Given the description of an element on the screen output the (x, y) to click on. 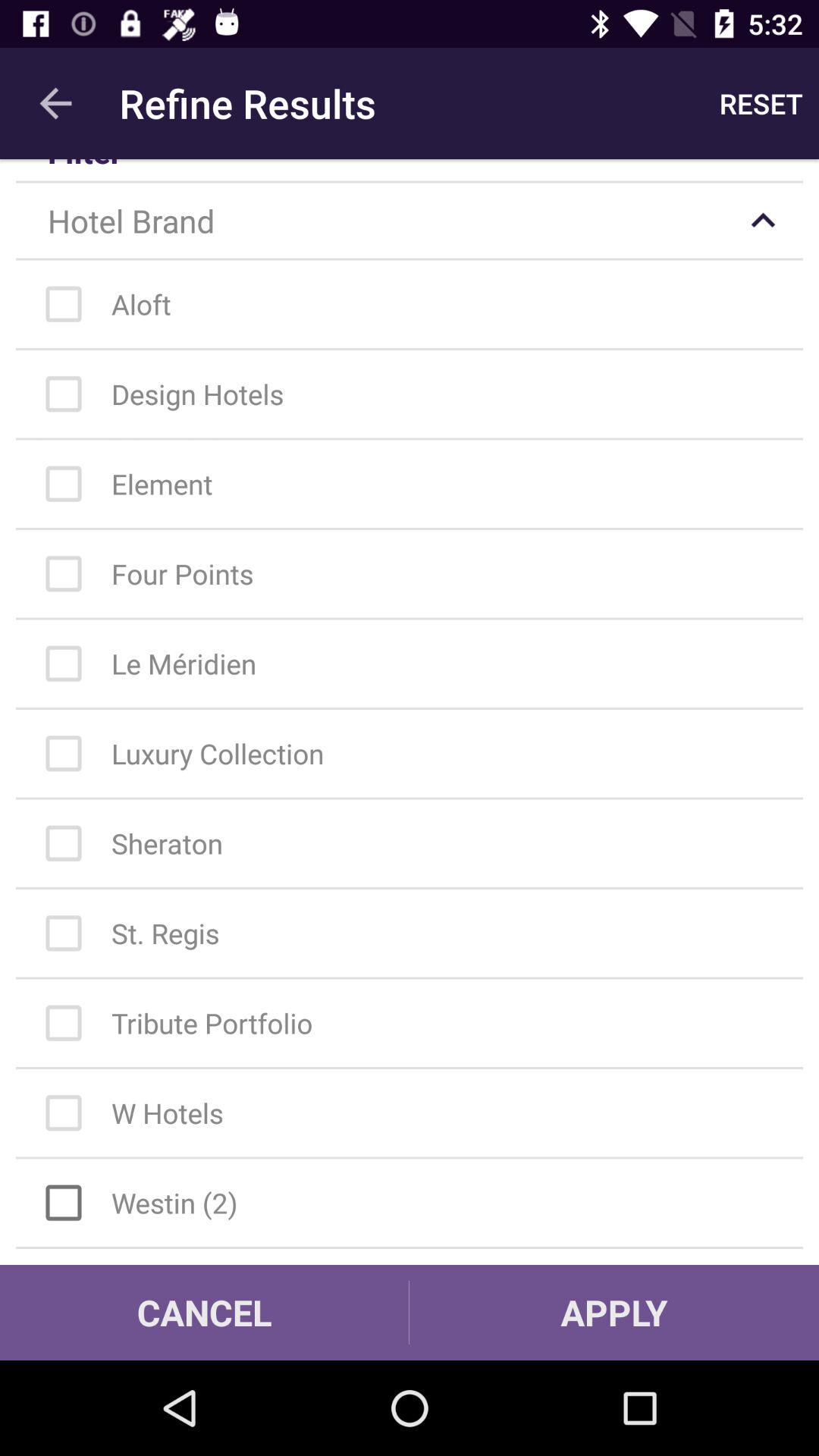
select the element along with the empty box (417, 484)
select w hotels (417, 1112)
select st regis (417, 932)
select design hotels (417, 394)
click the last hotel brand (417, 1202)
